Given the description of an element on the screen output the (x, y) to click on. 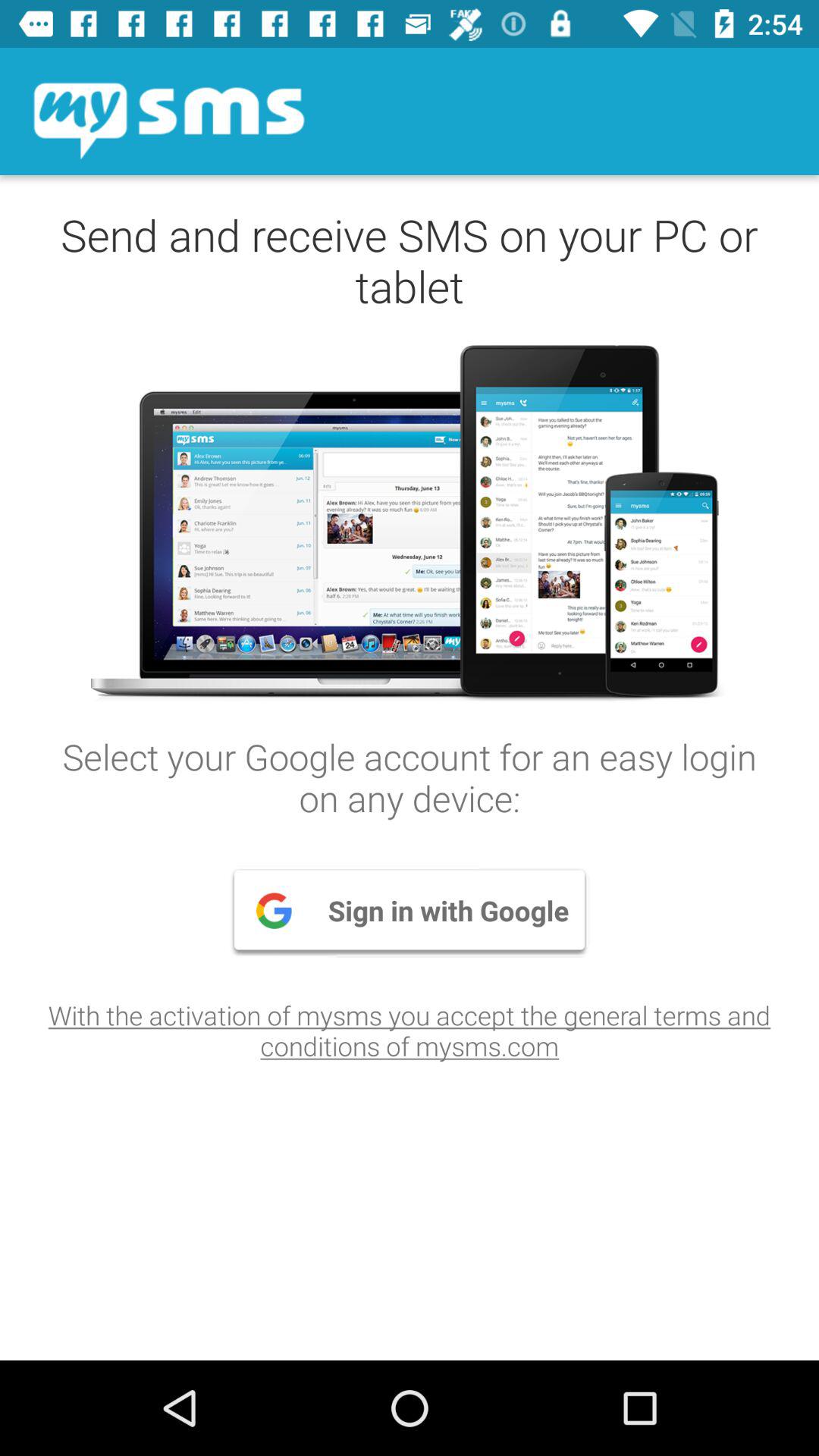
scroll until sign in with (409, 909)
